Given the description of an element on the screen output the (x, y) to click on. 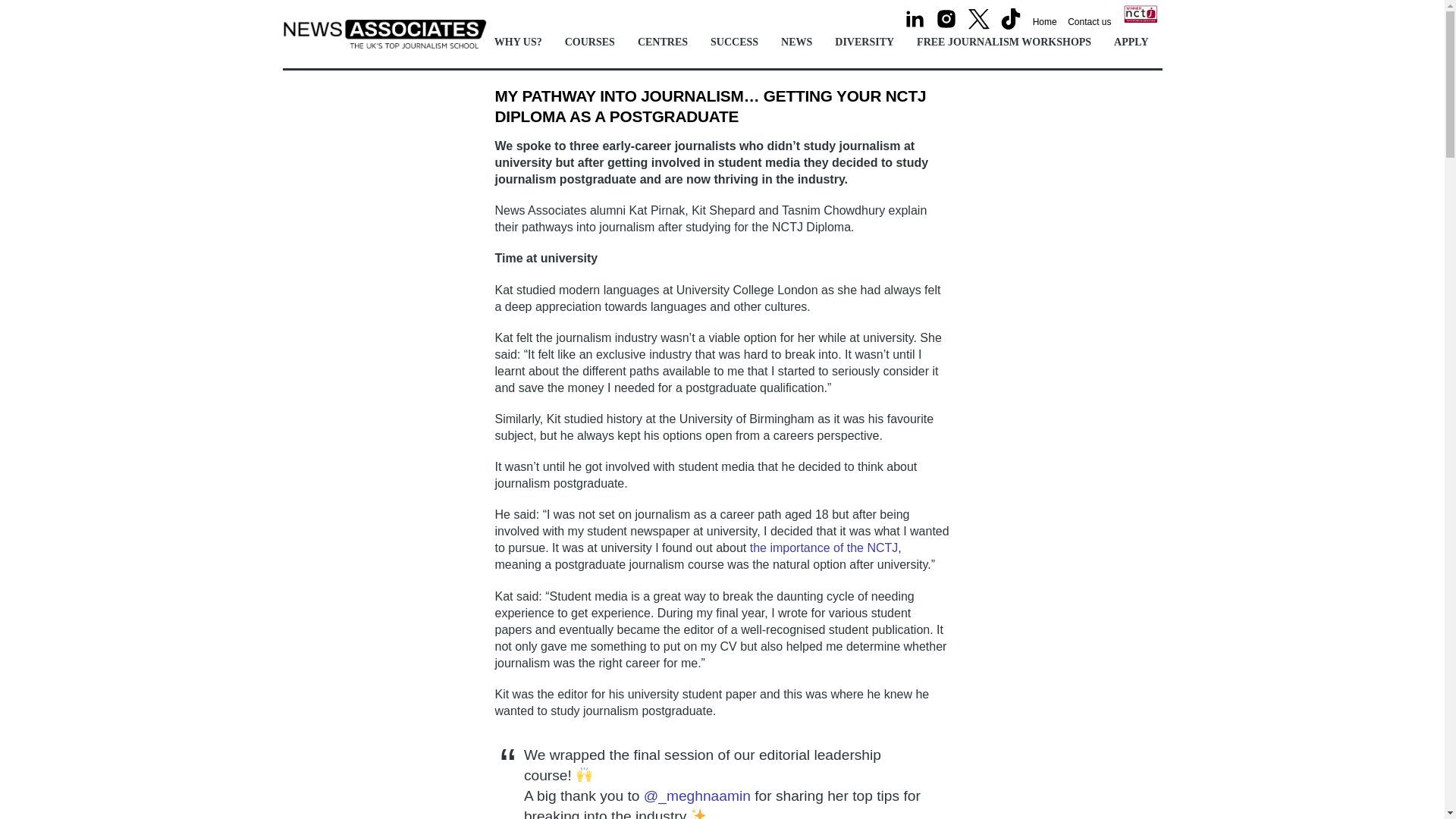
Latest information from us (800, 42)
News Associates (384, 41)
the importance of the NCTJ (823, 547)
CENTRES (665, 42)
WHY US? (521, 42)
Contact us (1088, 21)
DIVERSITY (868, 42)
Why Study with News Associates? (521, 42)
APPLY (1133, 42)
Our commitment to diversity in journalism (868, 42)
View the location of News Associates centres (665, 42)
SUCCESS (738, 42)
Return to the home page (1044, 21)
